Given the description of an element on the screen output the (x, y) to click on. 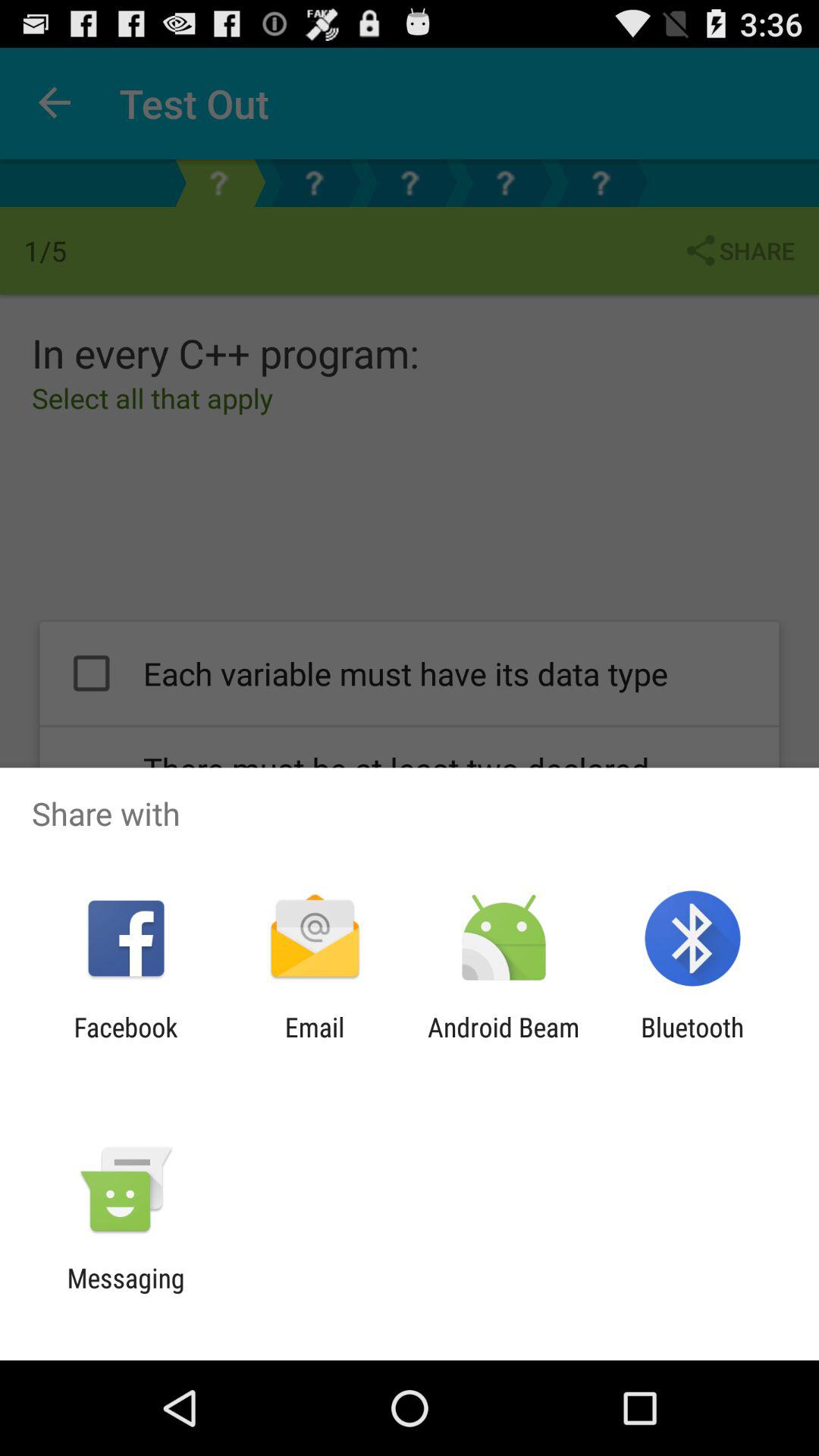
flip until facebook (125, 1042)
